Given the description of an element on the screen output the (x, y) to click on. 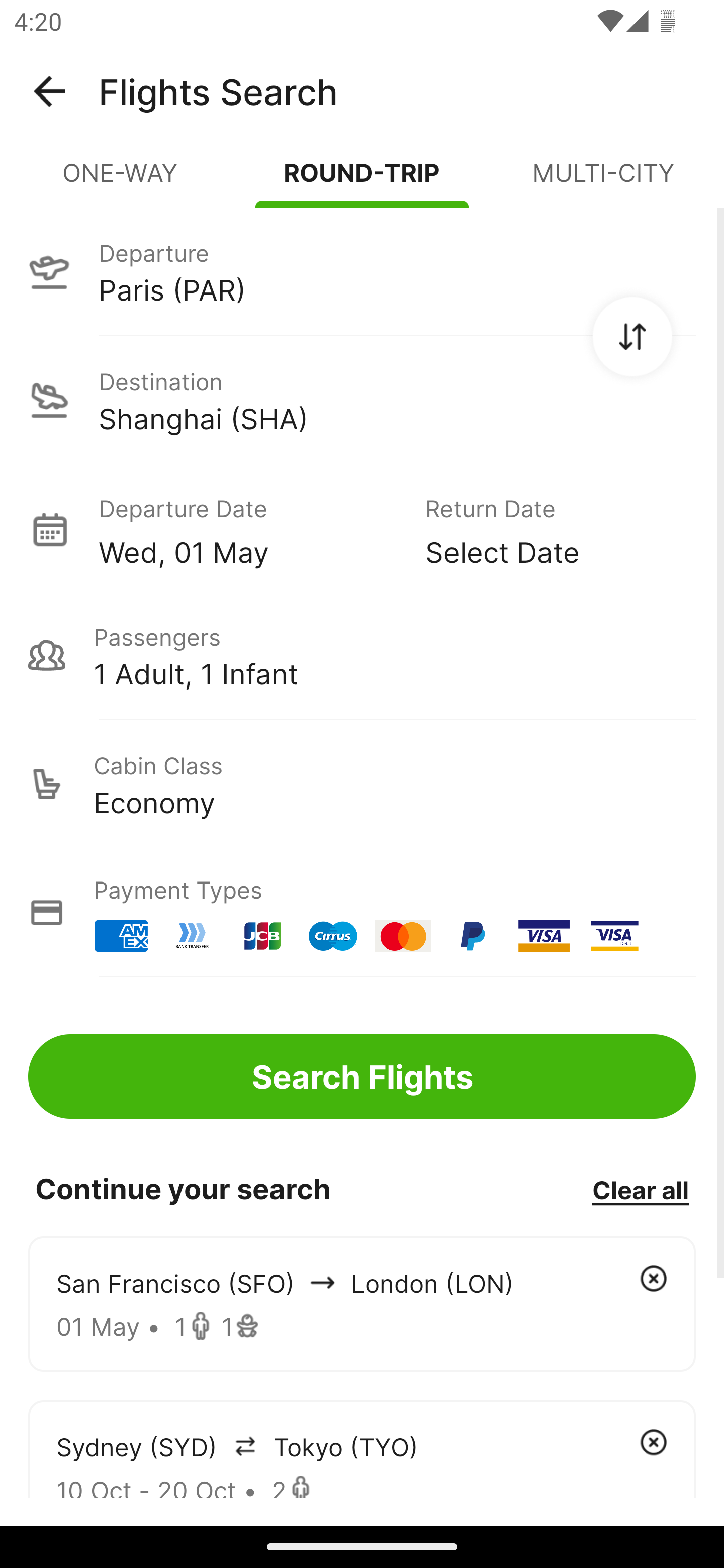
ONE-WAY (120, 180)
ROUND-TRIP (361, 180)
MULTI-CITY (603, 180)
Departure Paris (PAR) (362, 270)
Destination Shanghai (SHA) (362, 400)
Departure Date Wed, 01 May (247, 528)
Return Date Select Date (546, 528)
Passengers 1 Adult, 1 Infant (362, 655)
Cabin Class Economy (362, 783)
Payment Types (362, 912)
Search Flights (361, 1075)
Clear all (640, 1189)
